Given the description of an element on the screen output the (x, y) to click on. 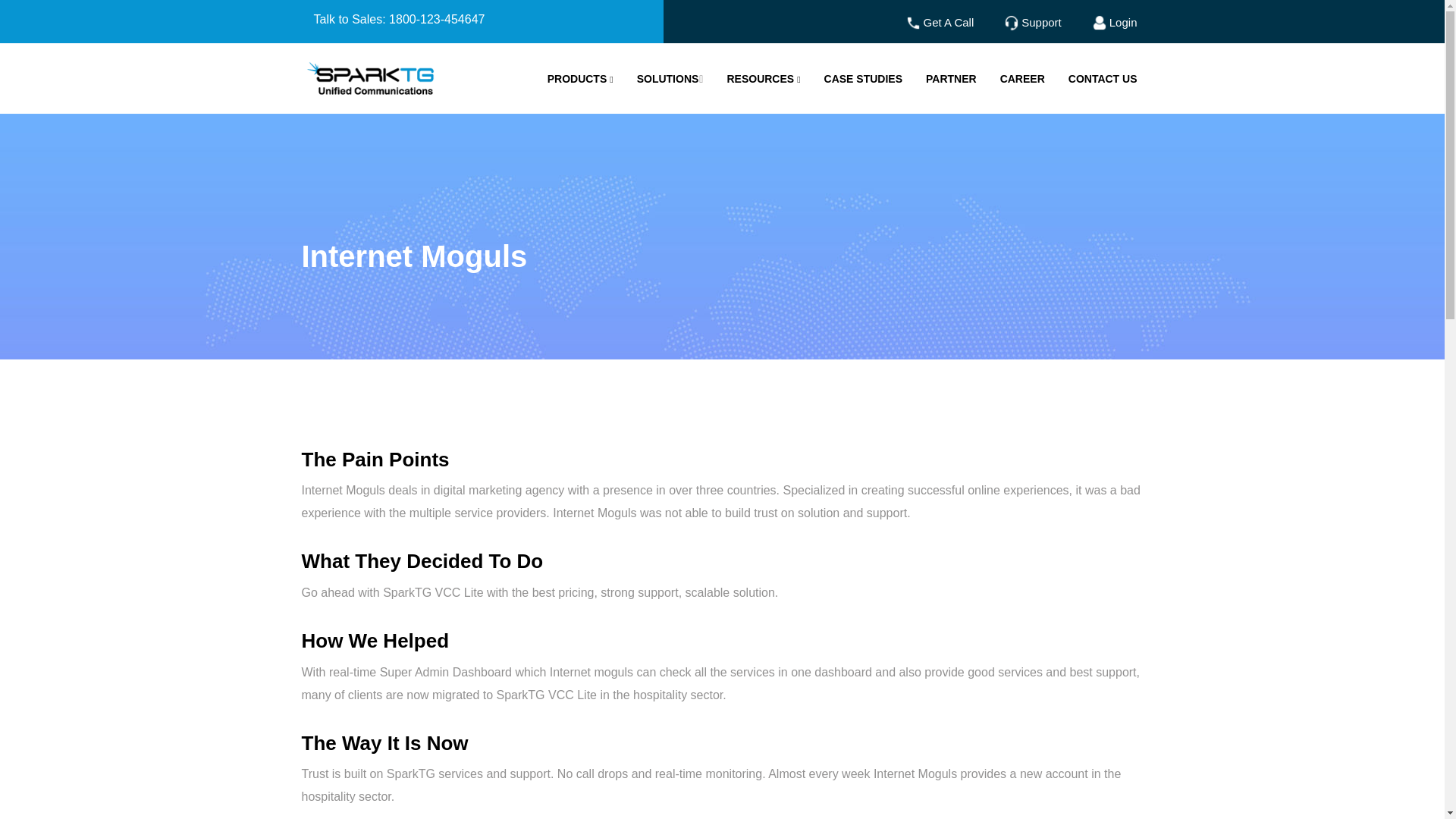
PRODUCTS (580, 78)
Get A Call (939, 21)
Talk to Sales: 1800-123-454647 (482, 19)
Login (1113, 21)
Support (1032, 21)
SOLUTIONS (670, 78)
RESOURCES (763, 78)
